Given the description of an element on the screen output the (x, y) to click on. 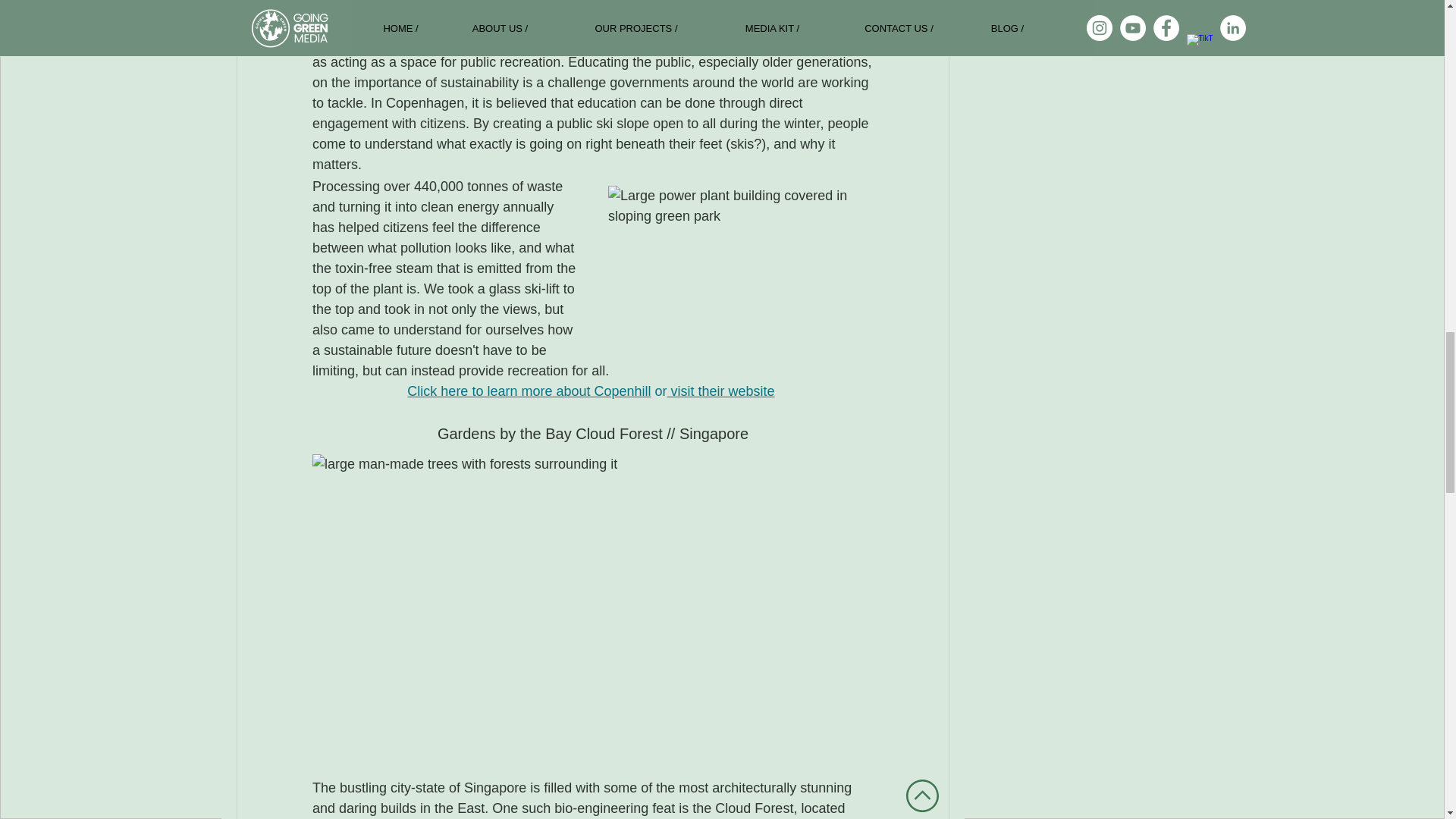
Click here to learn more about Copenhill (528, 391)
 visit their website (720, 391)
